Given the description of an element on the screen output the (x, y) to click on. 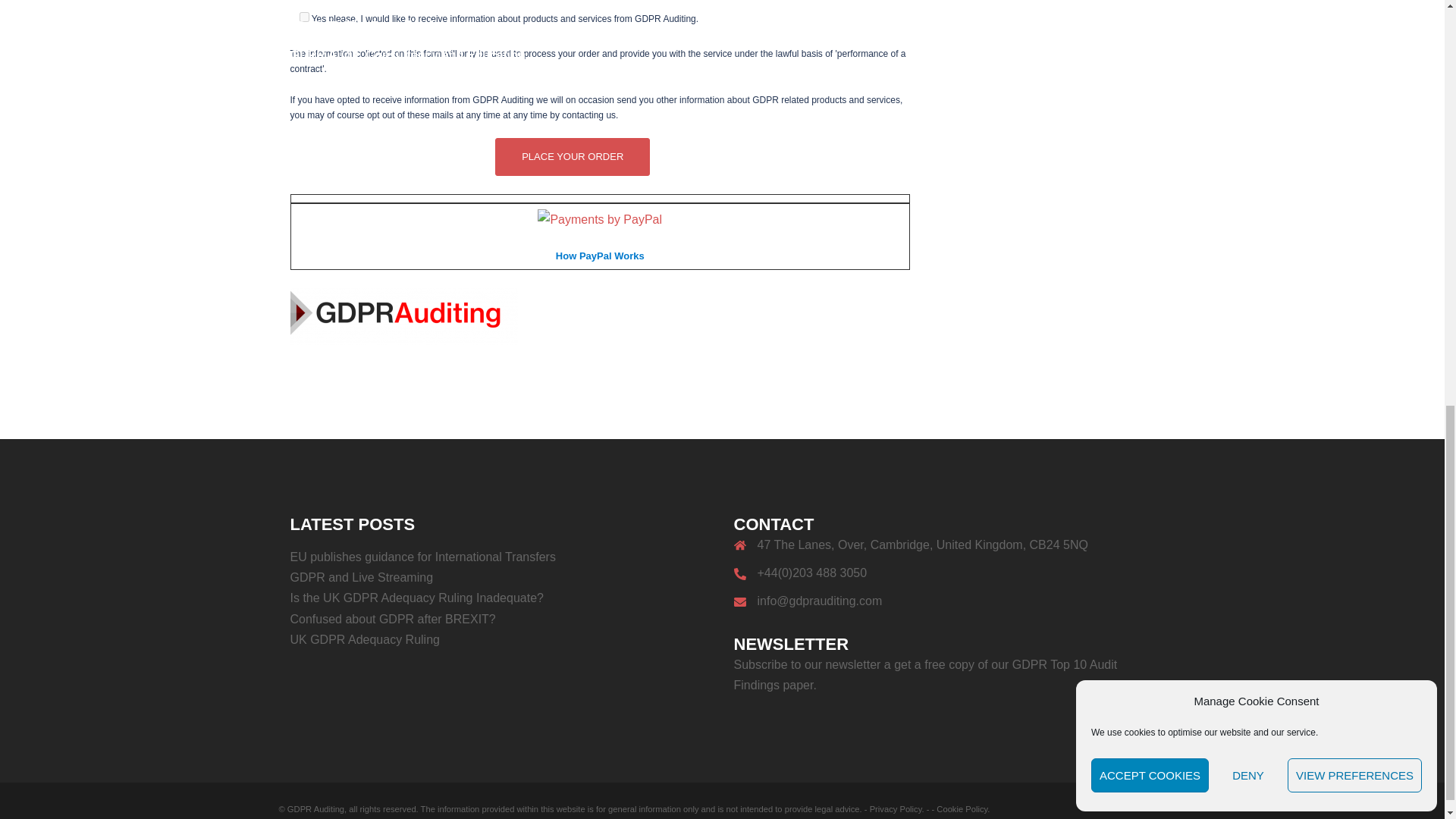
1 (303, 17)
Place your order (572, 157)
Place your order (572, 157)
How PayPal Works (599, 217)
How PayPal Works (600, 254)
